Given the description of an element on the screen output the (x, y) to click on. 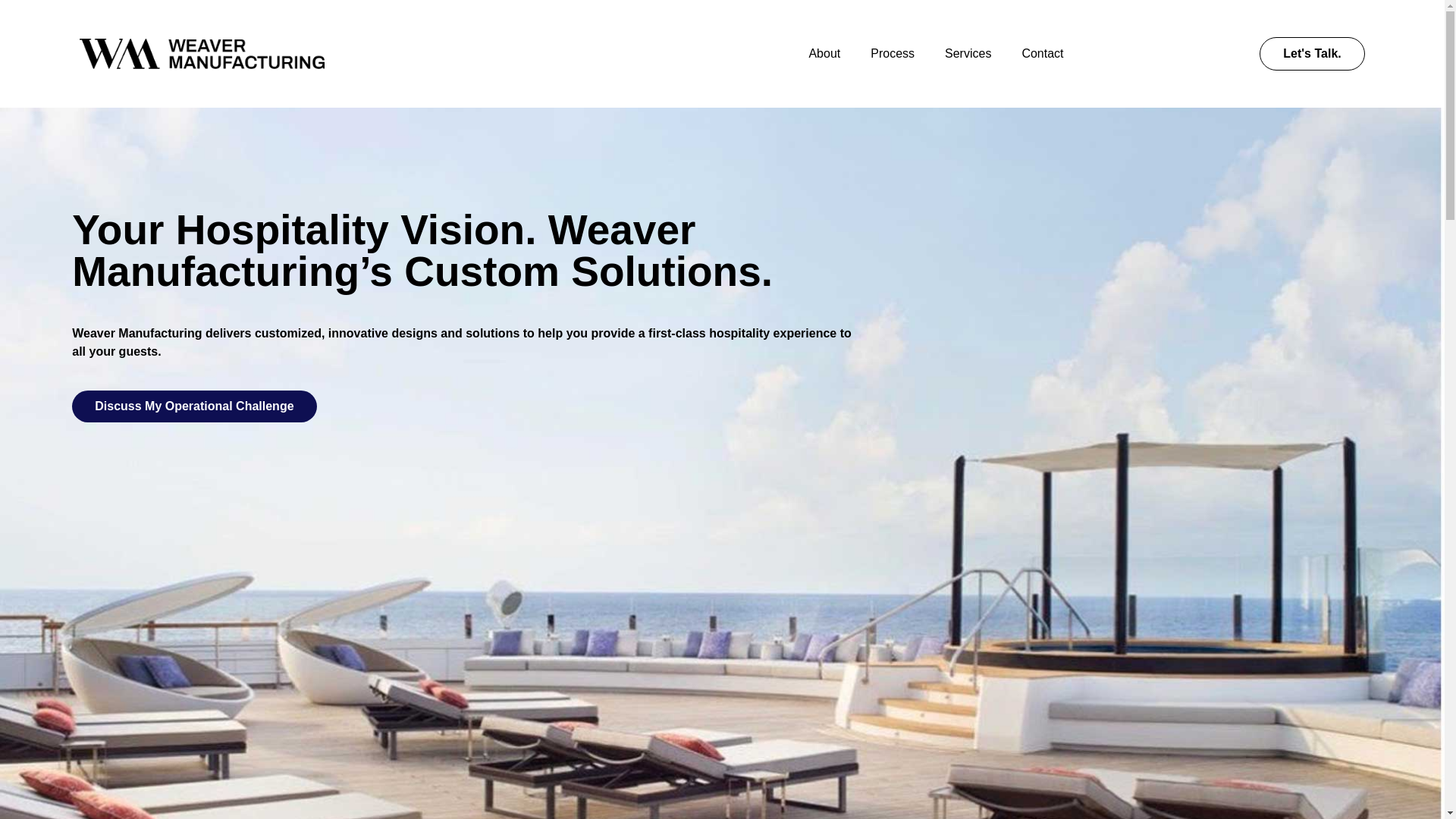
Services (968, 53)
Let's Talk. (1311, 53)
Process (893, 53)
About (824, 53)
Discuss My Operational Challenge (193, 406)
Contact (1042, 53)
